Given the description of an element on the screen output the (x, y) to click on. 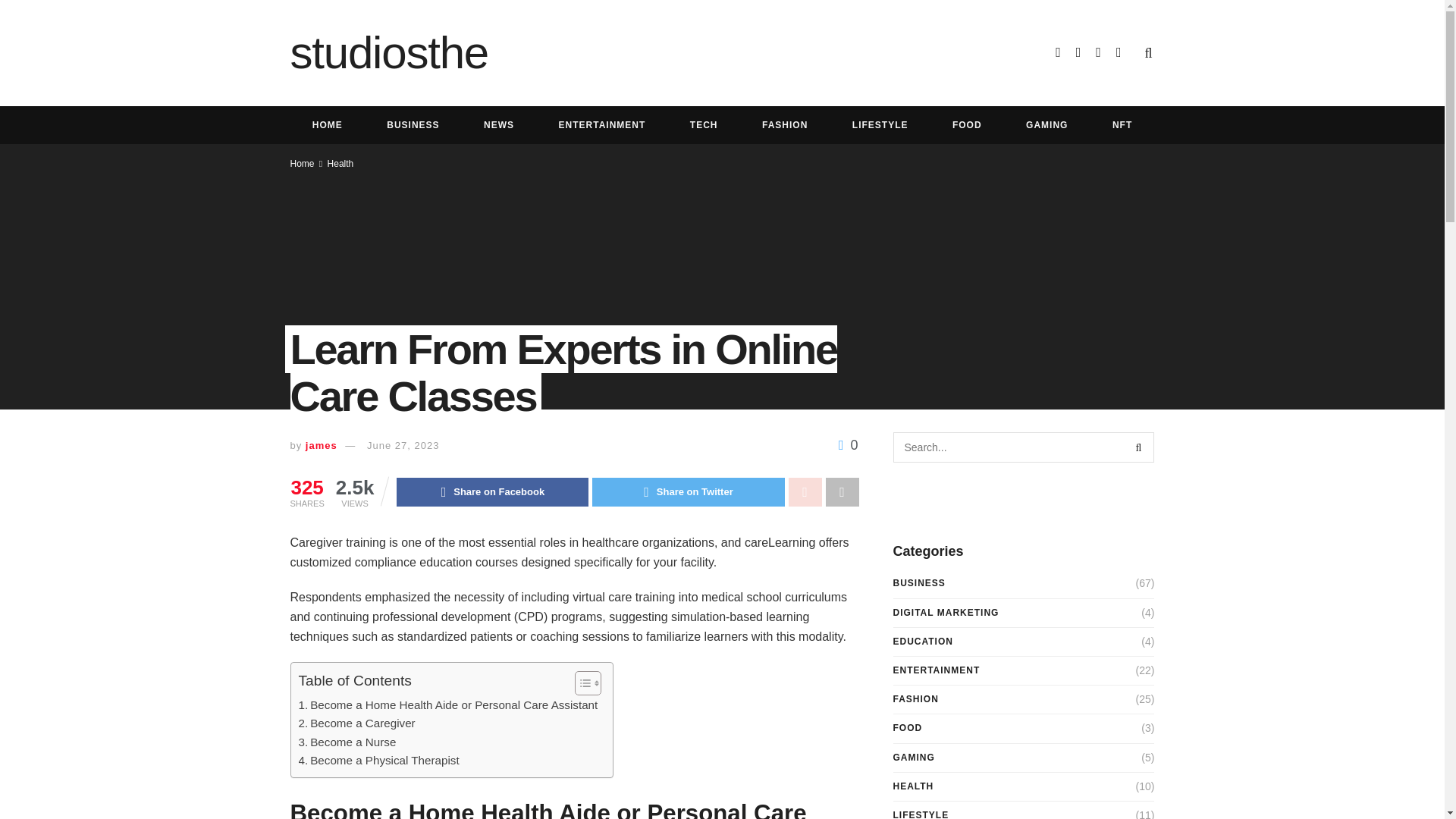
0 (848, 444)
FOOD (967, 125)
FASHION (784, 125)
Health (340, 163)
Become a Nurse (347, 742)
NEWS (498, 125)
Share on Facebook (492, 491)
LIFESTYLE (879, 125)
NFT (1122, 125)
June 27, 2023 (402, 445)
studiosthe (388, 53)
Become a Caregiver (356, 723)
james (321, 445)
Become a Home Health Aide or Personal Care Assistant (448, 705)
TECH (703, 125)
